Given the description of an element on the screen output the (x, y) to click on. 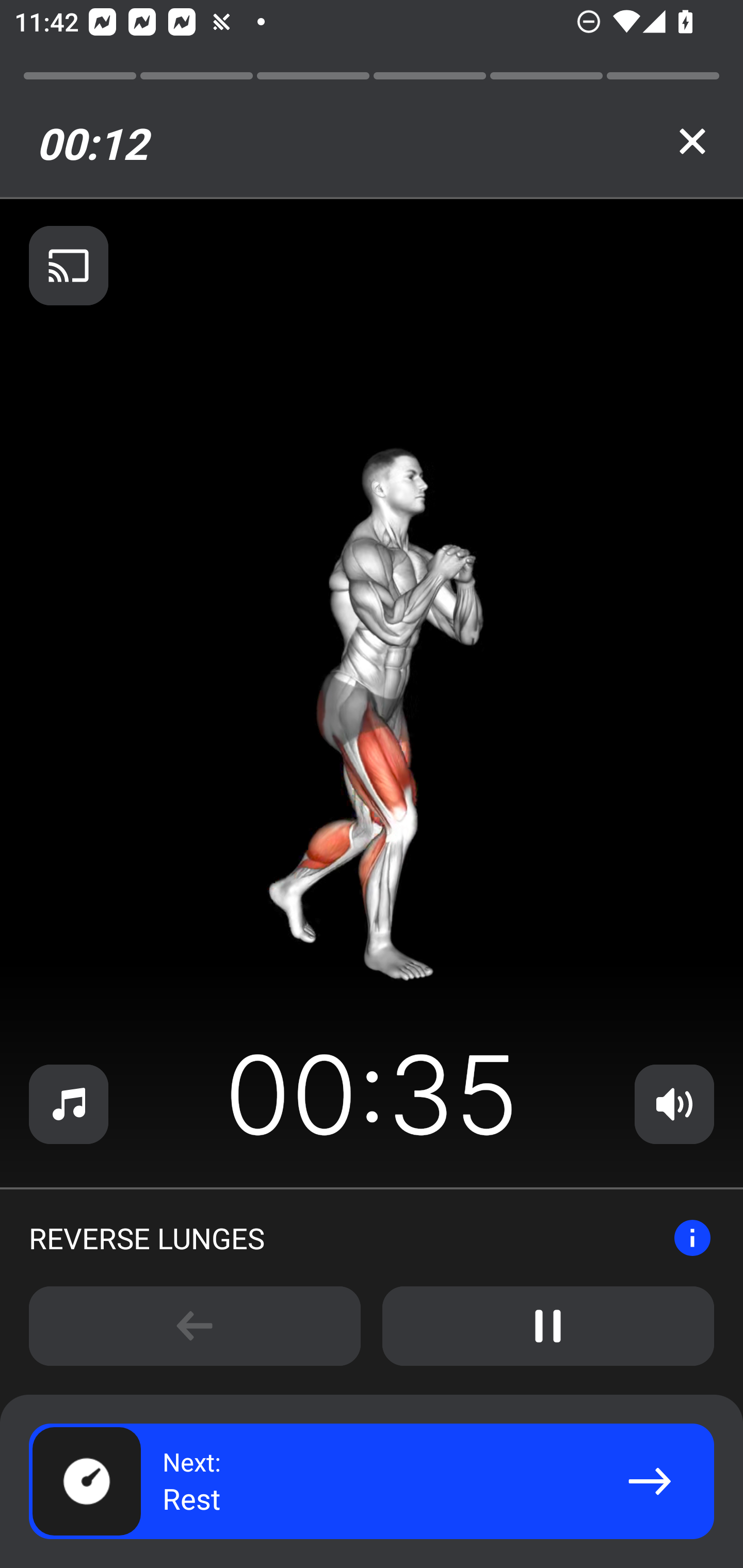
Next: Rest (371, 1481)
